Given the description of an element on the screen output the (x, y) to click on. 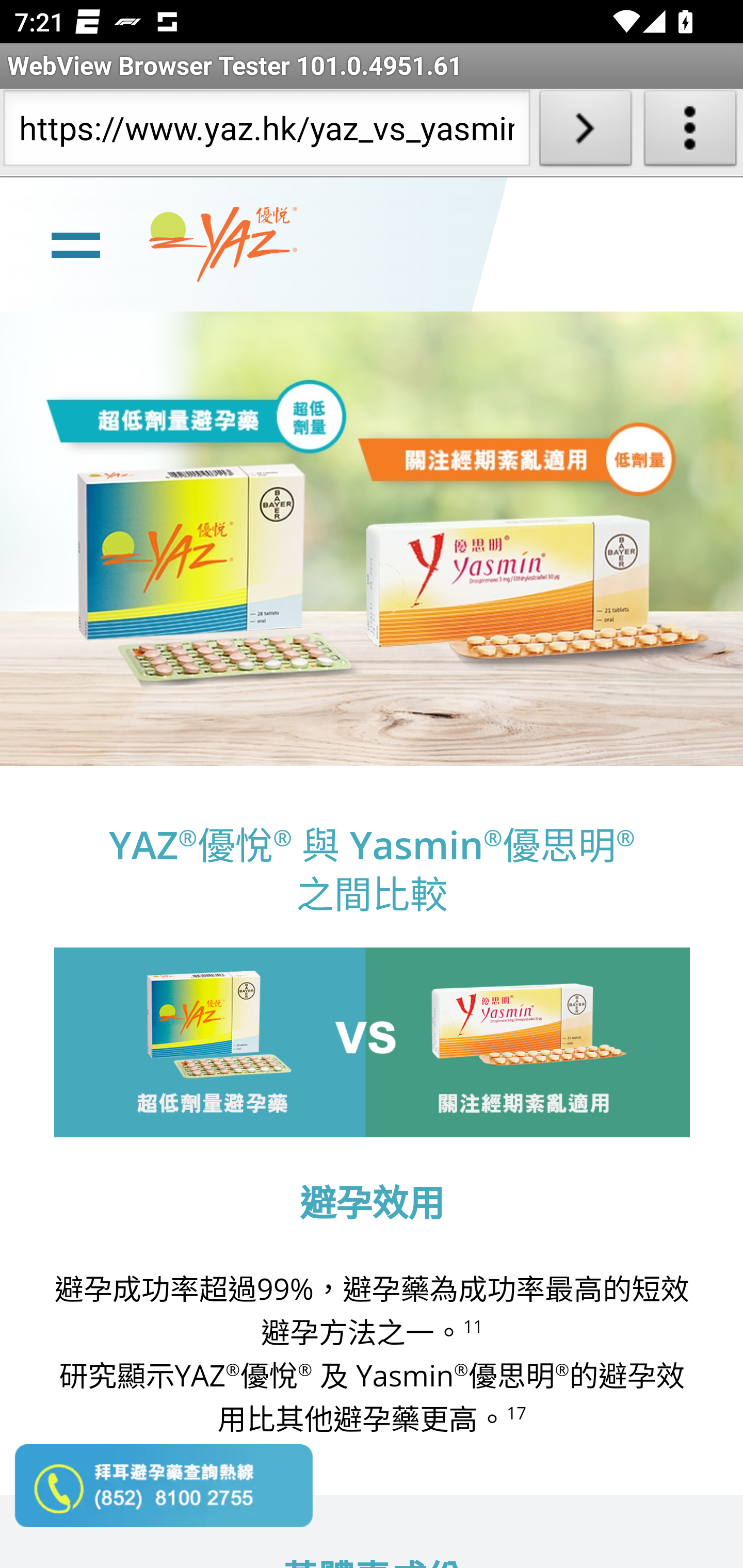
Load URL (585, 132)
About WebView (690, 132)
www.yaz (222, 244)
line Toggle burger menu (75, 242)
